Given the description of an element on the screen output the (x, y) to click on. 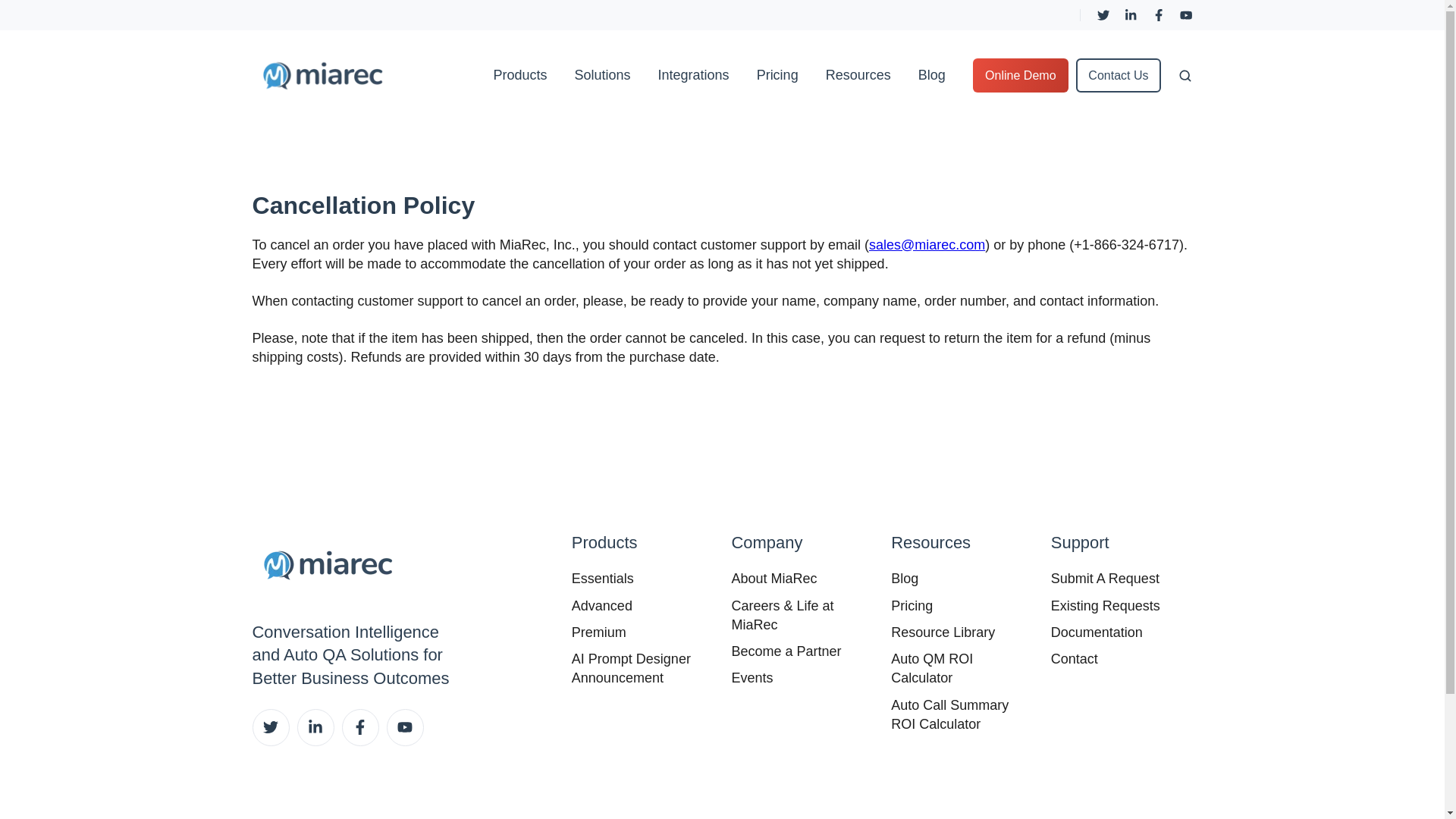
Solutions (602, 75)
MiaRecLogo450x200 (322, 75)
MiaRecLogo450x200 (327, 564)
Products (520, 75)
